Given the description of an element on the screen output the (x, y) to click on. 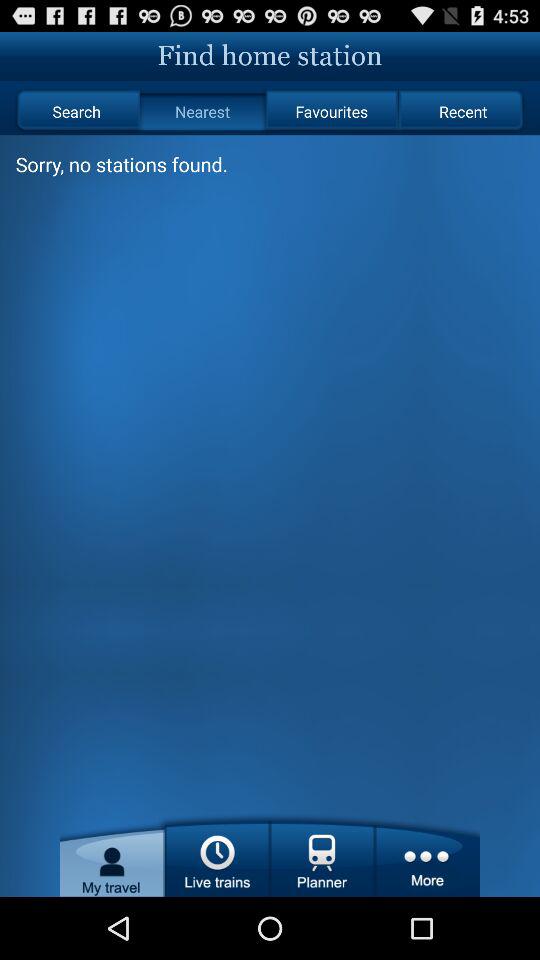
choose the radio button to the left of the favourites item (202, 111)
